Given the description of an element on the screen output the (x, y) to click on. 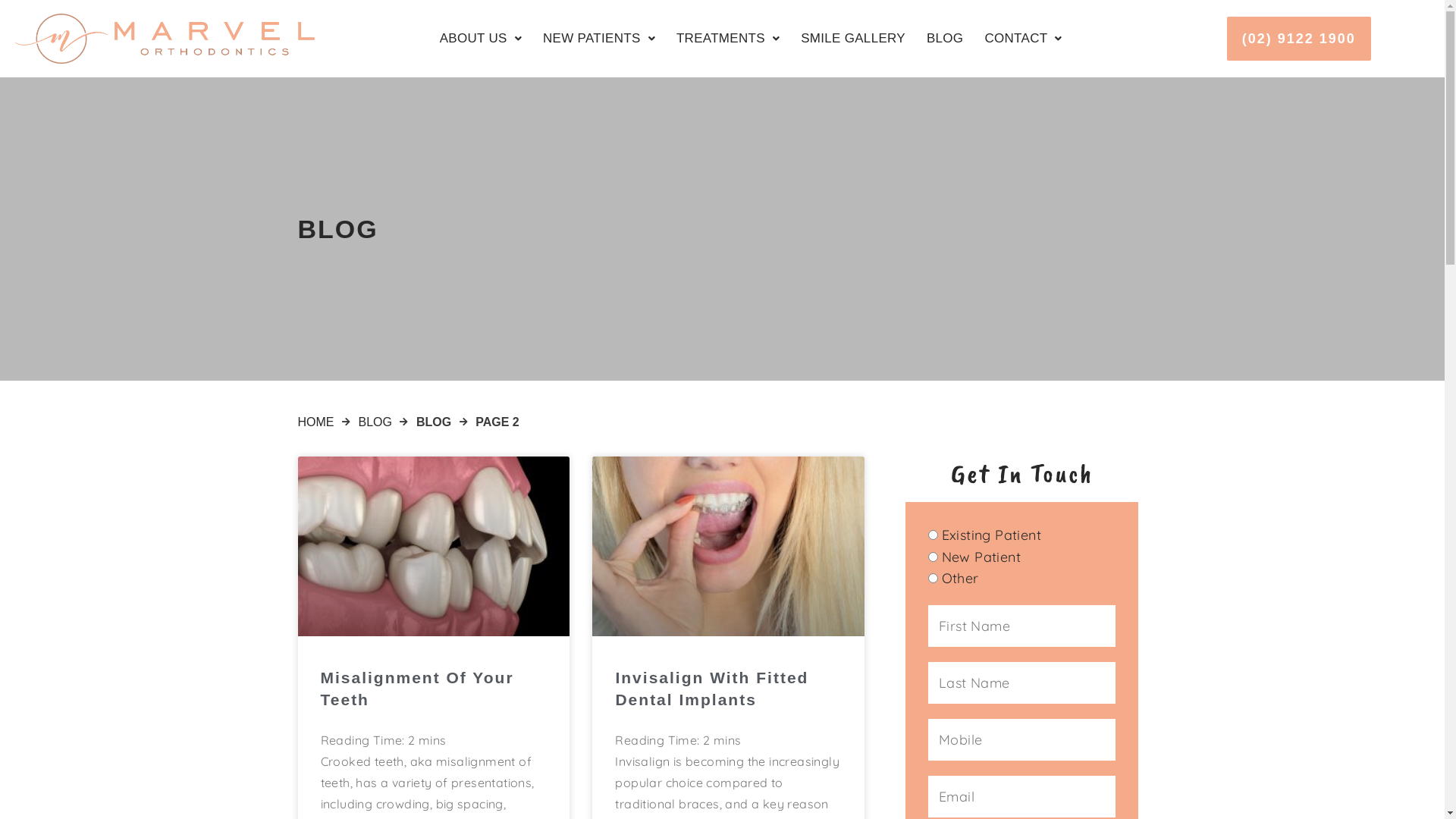
SMILE GALLERY Element type: text (853, 38)
(02) 9122 1900 Element type: text (1298, 38)
ABOUT US Element type: text (480, 38)
Invisalign With Fitted Dental Implants Element type: text (711, 688)
TREATMENTS Element type: text (727, 38)
BLOG Element type: text (944, 38)
NEW PATIENTS Element type: text (598, 38)
BLOG Element type: text (374, 422)
Misalignment Of Your Teeth Element type: text (416, 688)
CONTACT Element type: text (1022, 38)
HOME Element type: text (315, 422)
